Given the description of an element on the screen output the (x, y) to click on. 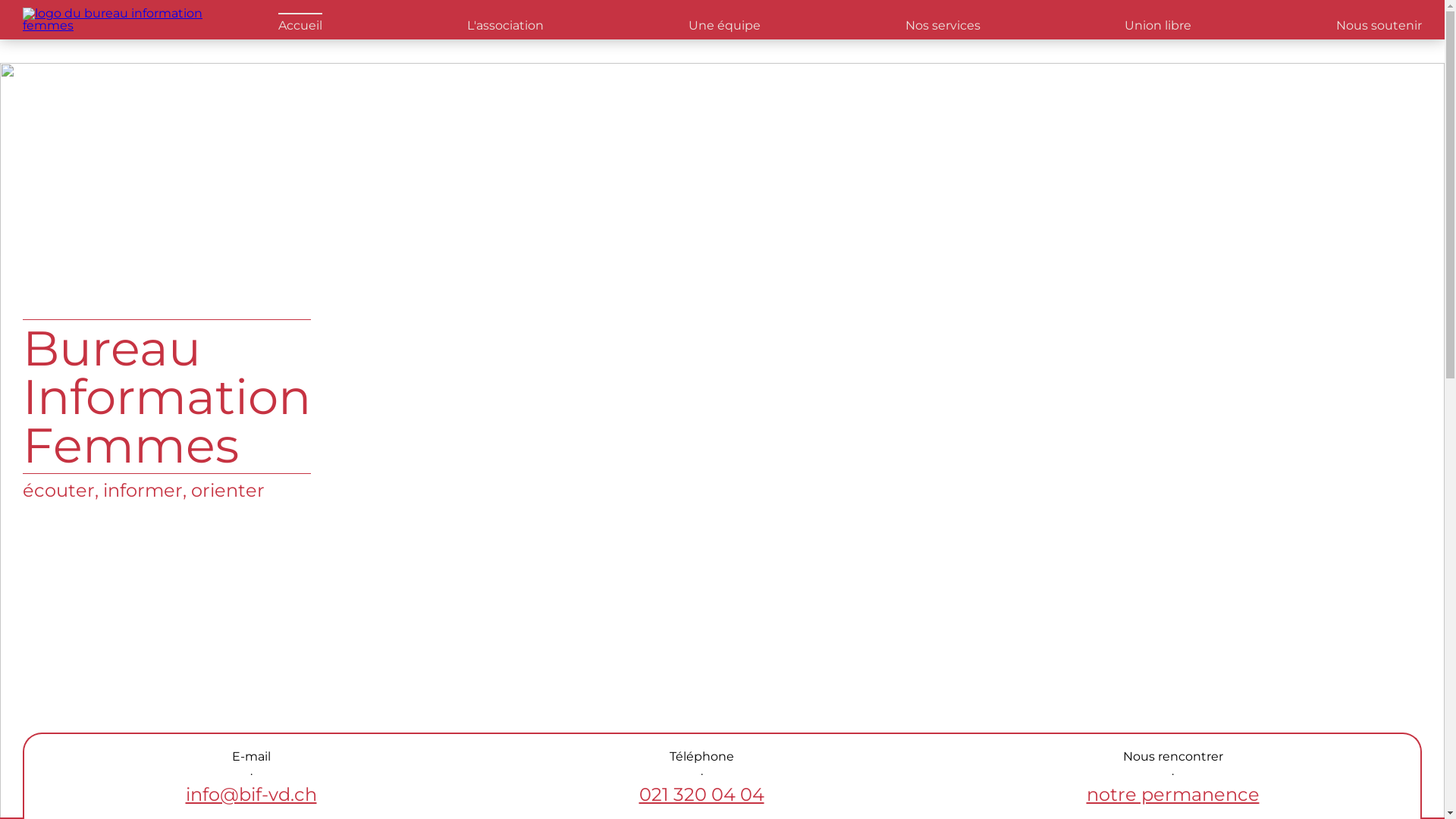
Accueil Element type: text (300, 22)
L'association Element type: text (505, 25)
Nos services Element type: text (942, 25)
021 320 04 04 Element type: text (700, 794)
Union libre Element type: text (1157, 25)
notre permanence Element type: text (1171, 794)
Nous soutenir Element type: text (1378, 25)
info@bif-vd.ch Element type: text (250, 794)
